Given the description of an element on the screen output the (x, y) to click on. 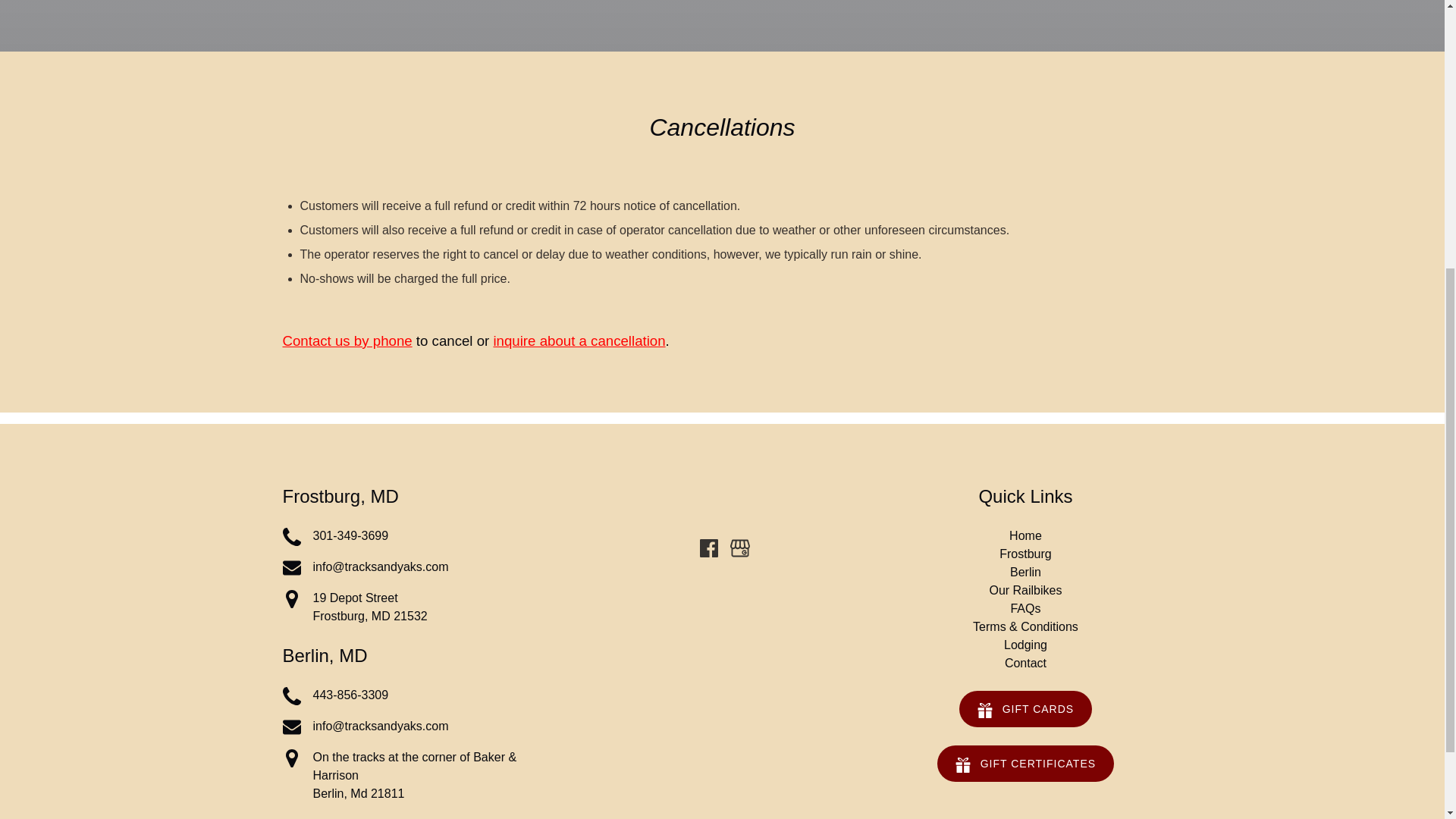
FAQs (1025, 608)
inquire about a cancellation (579, 340)
Our Railbikes (1024, 590)
GIFT GIFT CARDS (1025, 698)
Lodging (1025, 644)
GIFT (984, 710)
Envelope (418, 536)
Contact us by phone (290, 567)
GIFT (347, 340)
